Given the description of an element on the screen output the (x, y) to click on. 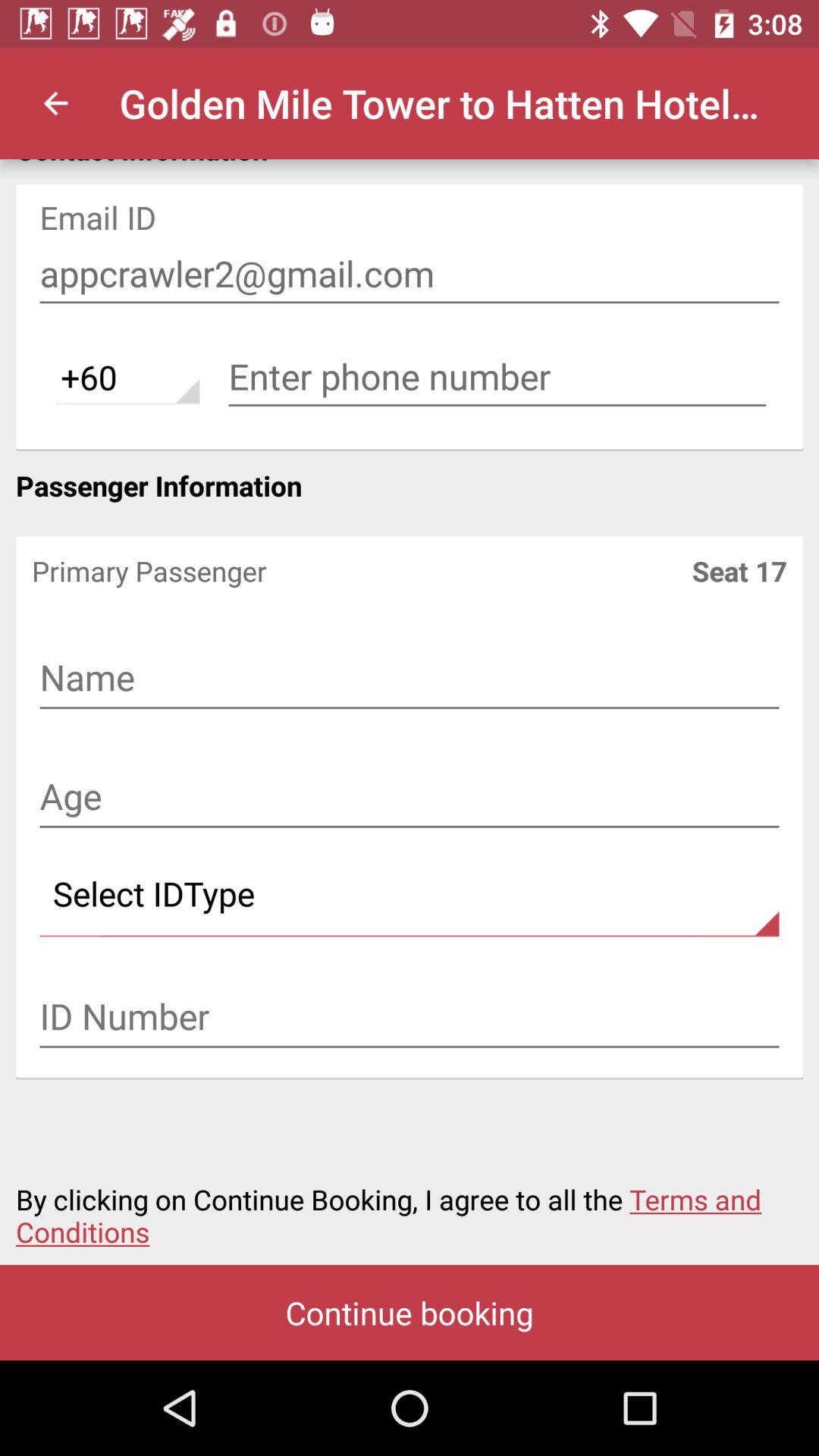
press item above select idtype icon (409, 798)
